Given the description of an element on the screen output the (x, y) to click on. 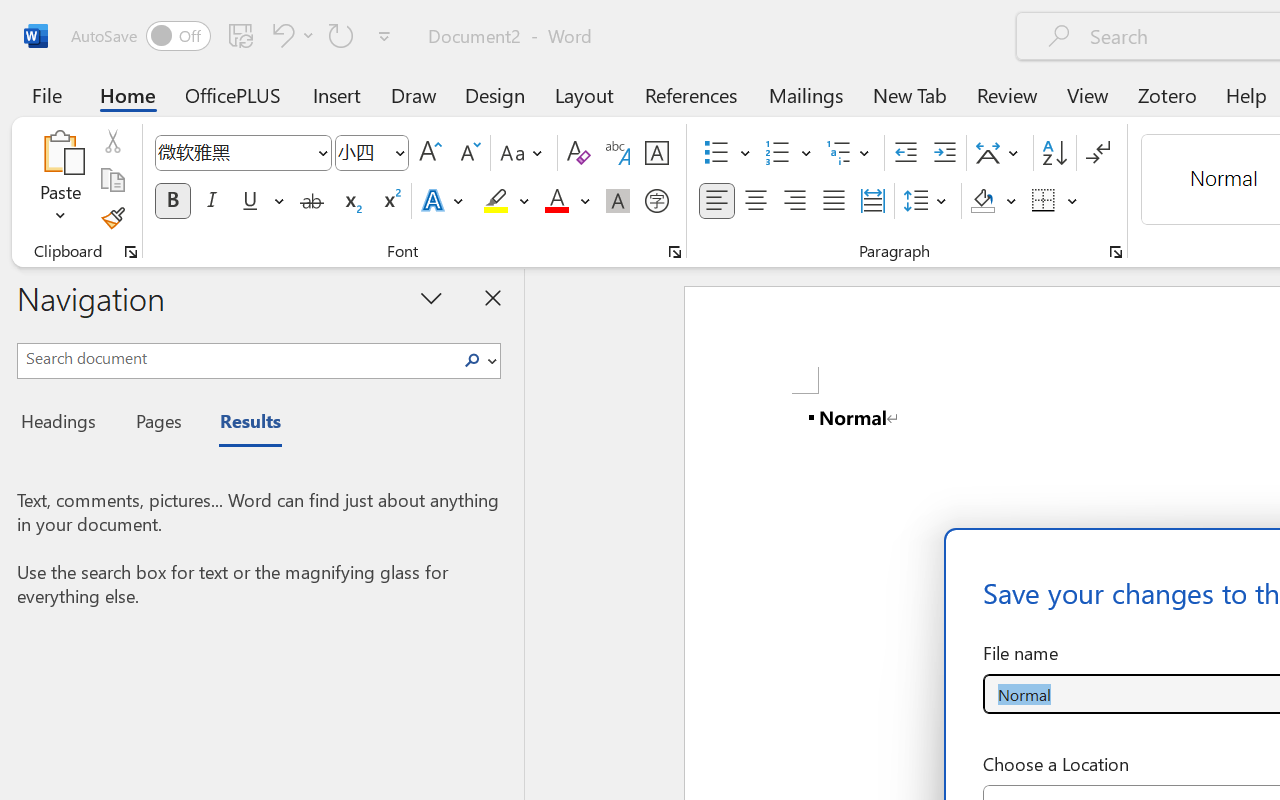
Format Painter (112, 218)
Headings (64, 424)
Zotero (1166, 94)
OfficePLUS (233, 94)
Numbering (788, 153)
Undo <ApplyStyleToDoc>b__0 (290, 35)
Sort... (1054, 153)
Decrease Indent (906, 153)
Text Highlight Color (506, 201)
